Given the description of an element on the screen output the (x, y) to click on. 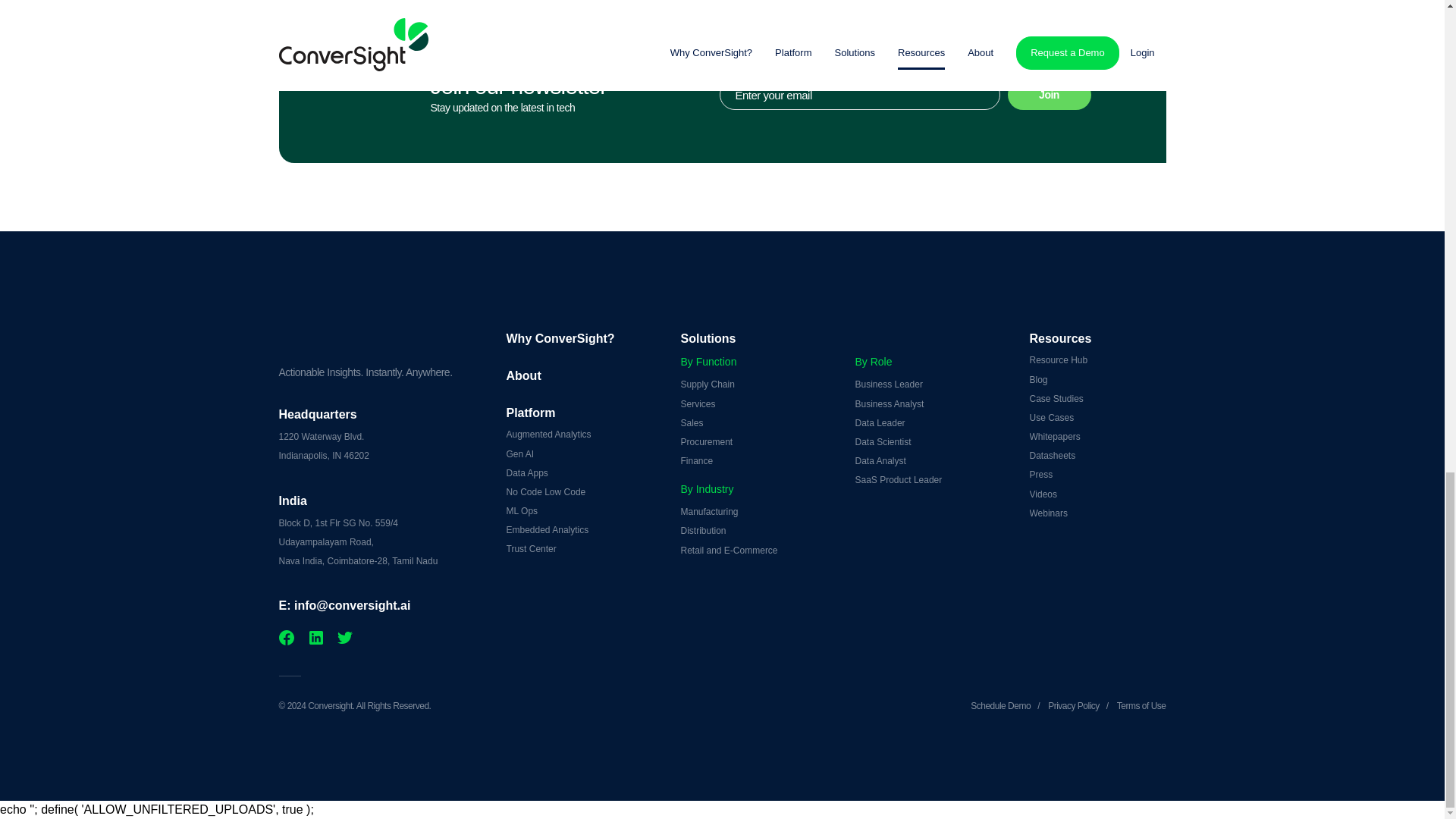
ConverSight (381, 324)
Join (1048, 94)
